Given the description of an element on the screen output the (x, y) to click on. 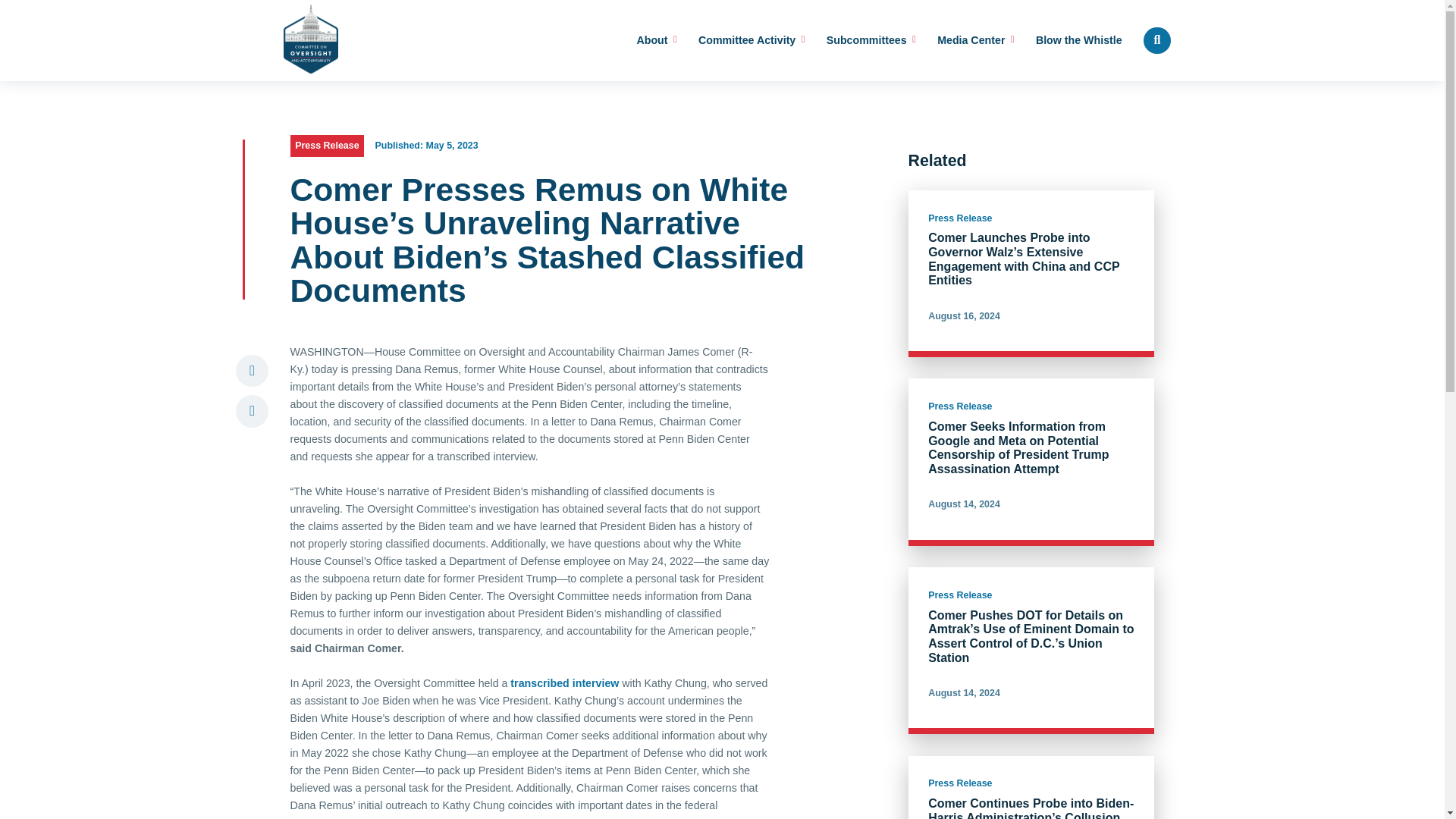
Subcommittees (871, 40)
Blow the Whistle (1078, 40)
transcribed interview (564, 683)
Media Center (975, 40)
About (656, 40)
Committee Activity (751, 40)
